Given the description of an element on the screen output the (x, y) to click on. 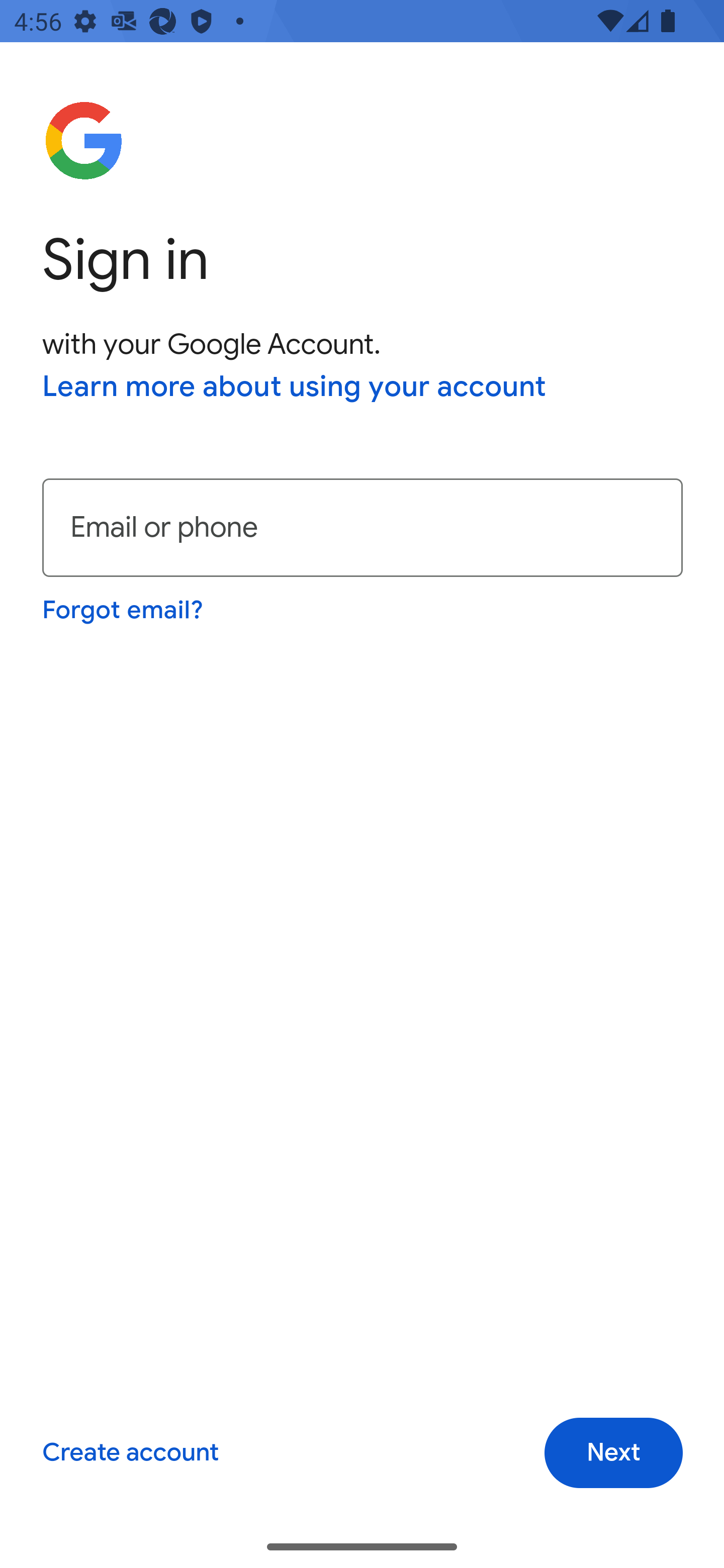
Learn more about using your account (294, 388)
Forgot email? (123, 609)
Next (613, 1453)
Create account (129, 1453)
